Given the description of an element on the screen output the (x, y) to click on. 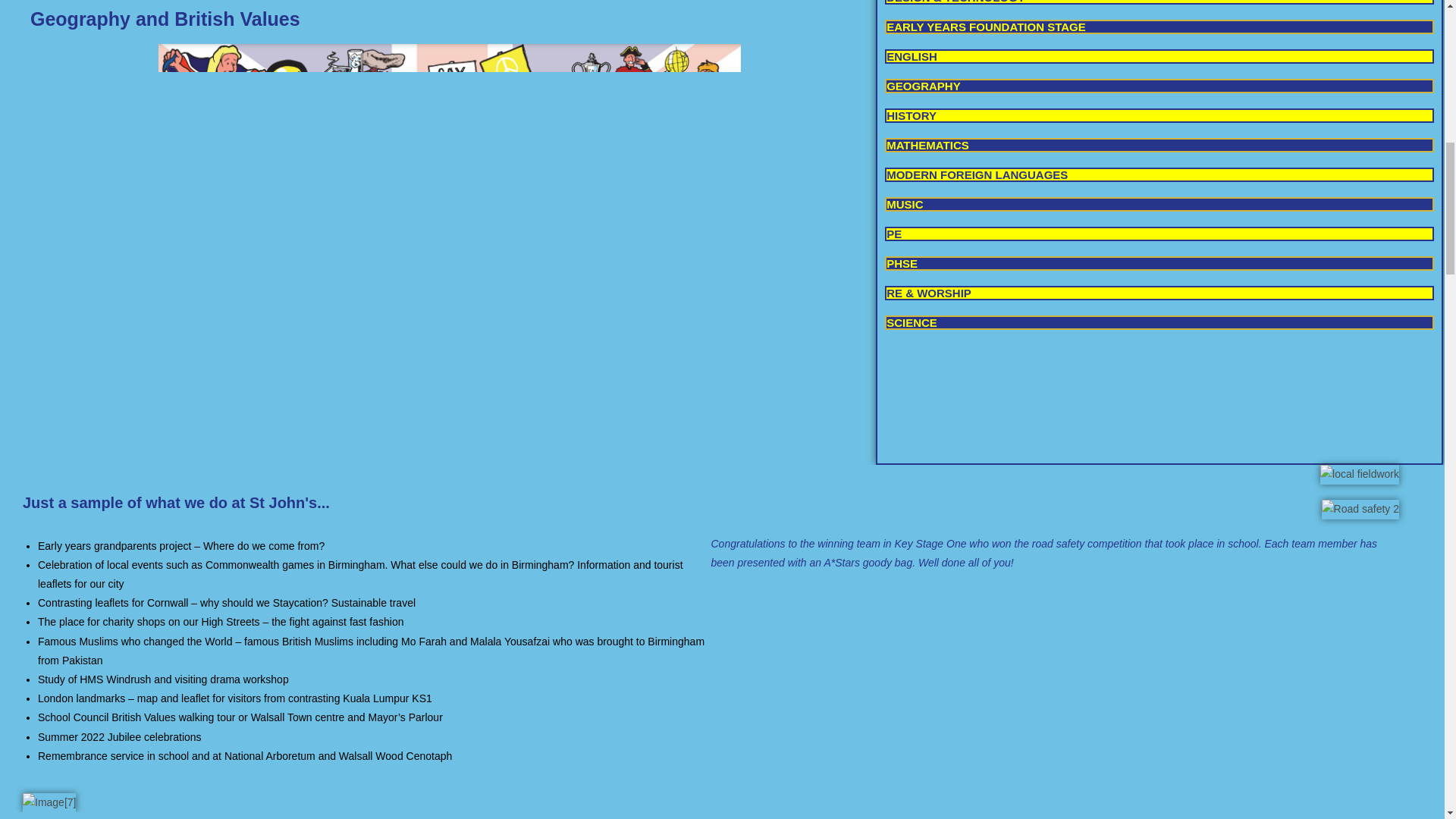
local fieldwork (1359, 474)
Road safety 2 (1360, 508)
